Given the description of an element on the screen output the (x, y) to click on. 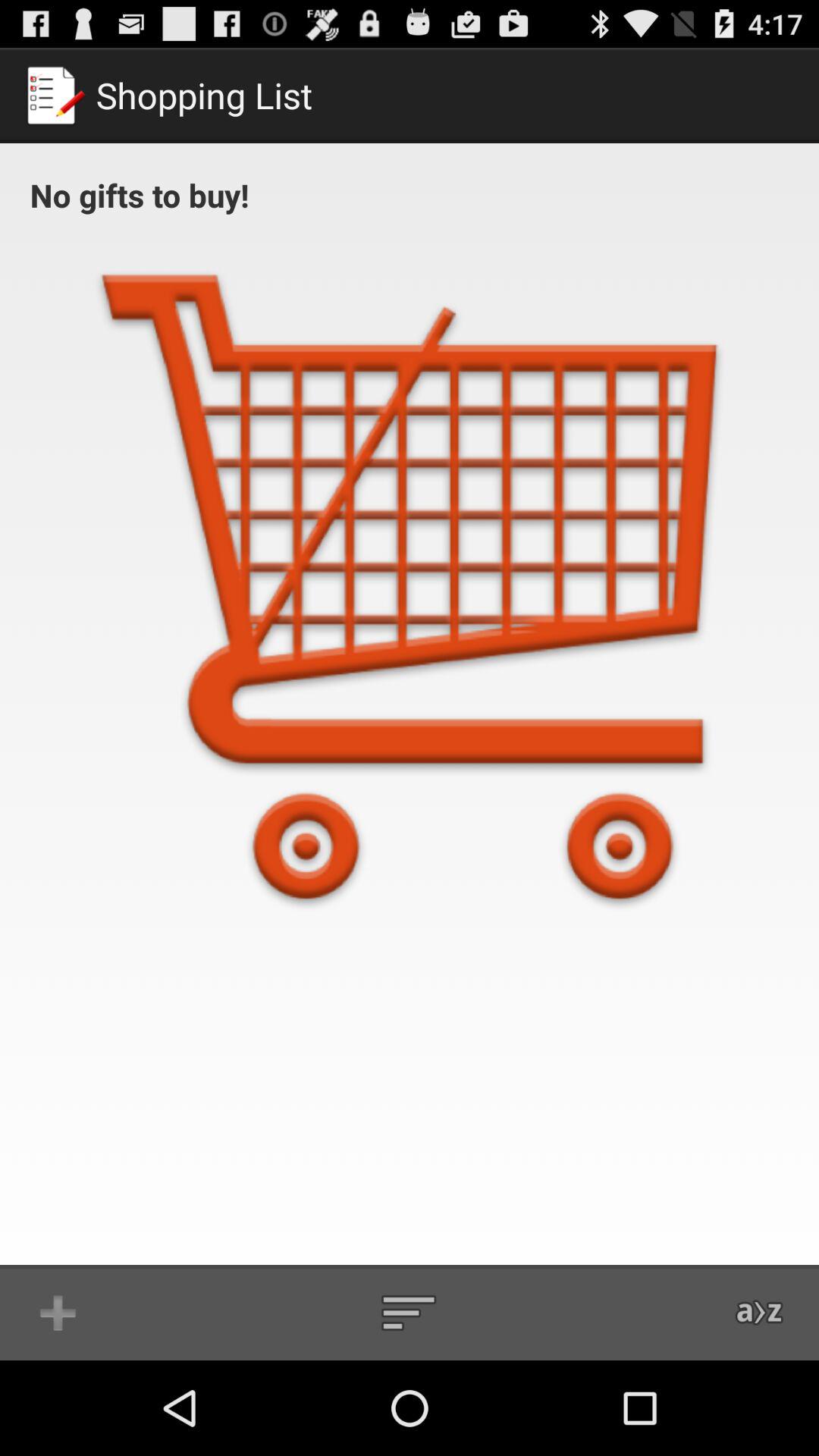
turn on item at the bottom left corner (58, 1312)
